Given the description of an element on the screen output the (x, y) to click on. 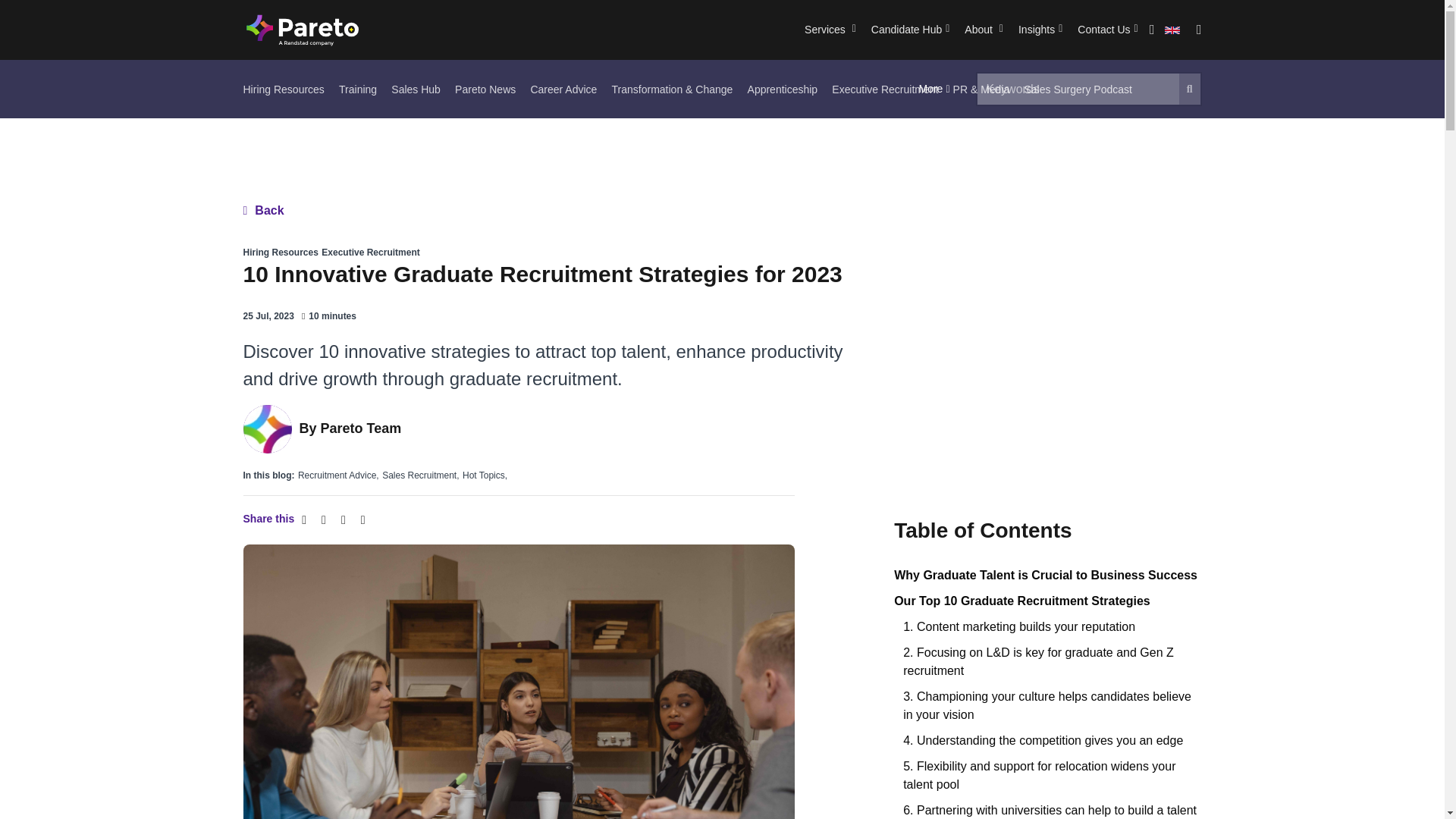
Services (829, 29)
About (983, 29)
Candidate Hub (910, 29)
